Given the description of an element on the screen output the (x, y) to click on. 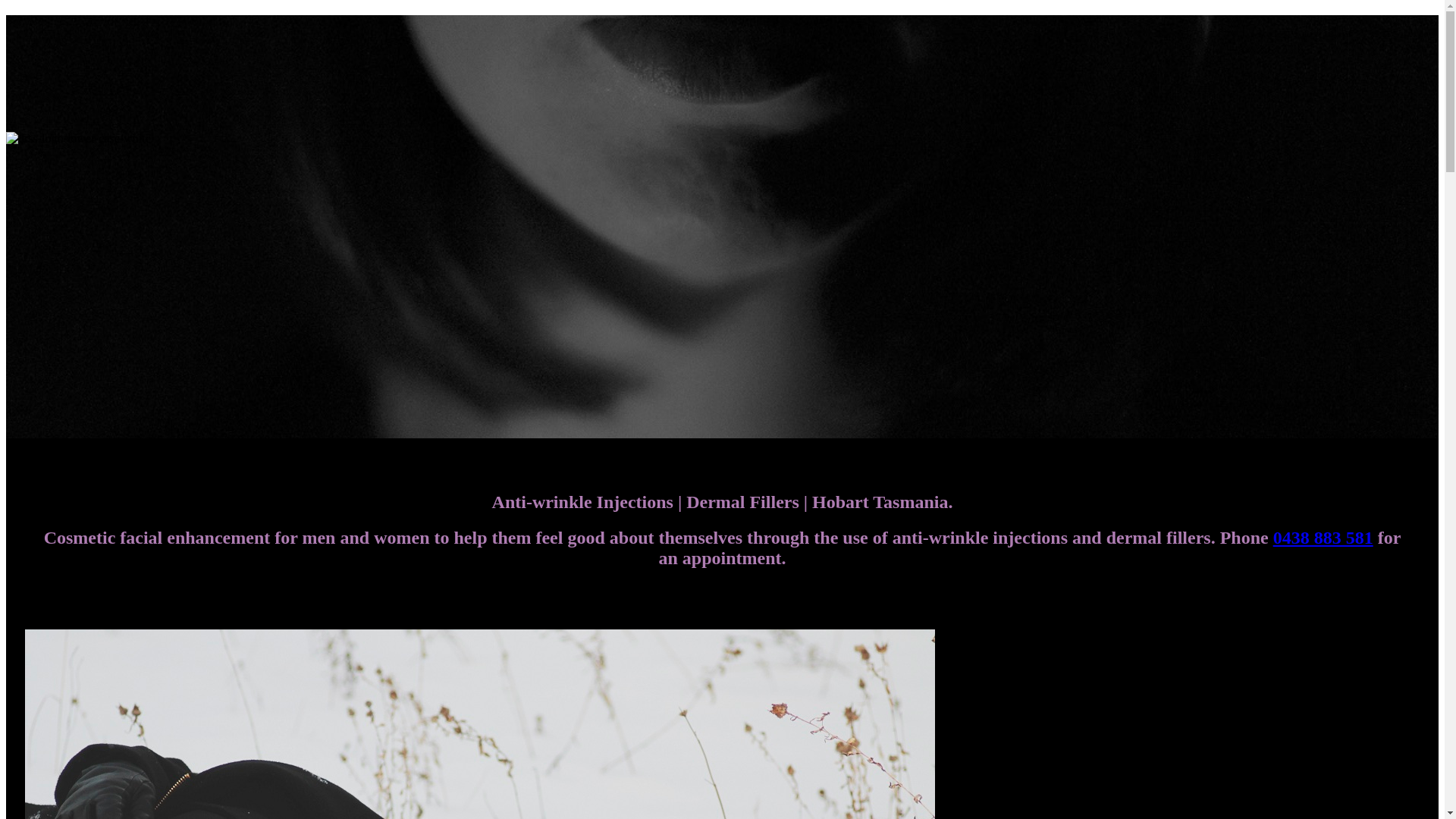
0438 883 581 Element type: text (1323, 537)
